Given the description of an element on the screen output the (x, y) to click on. 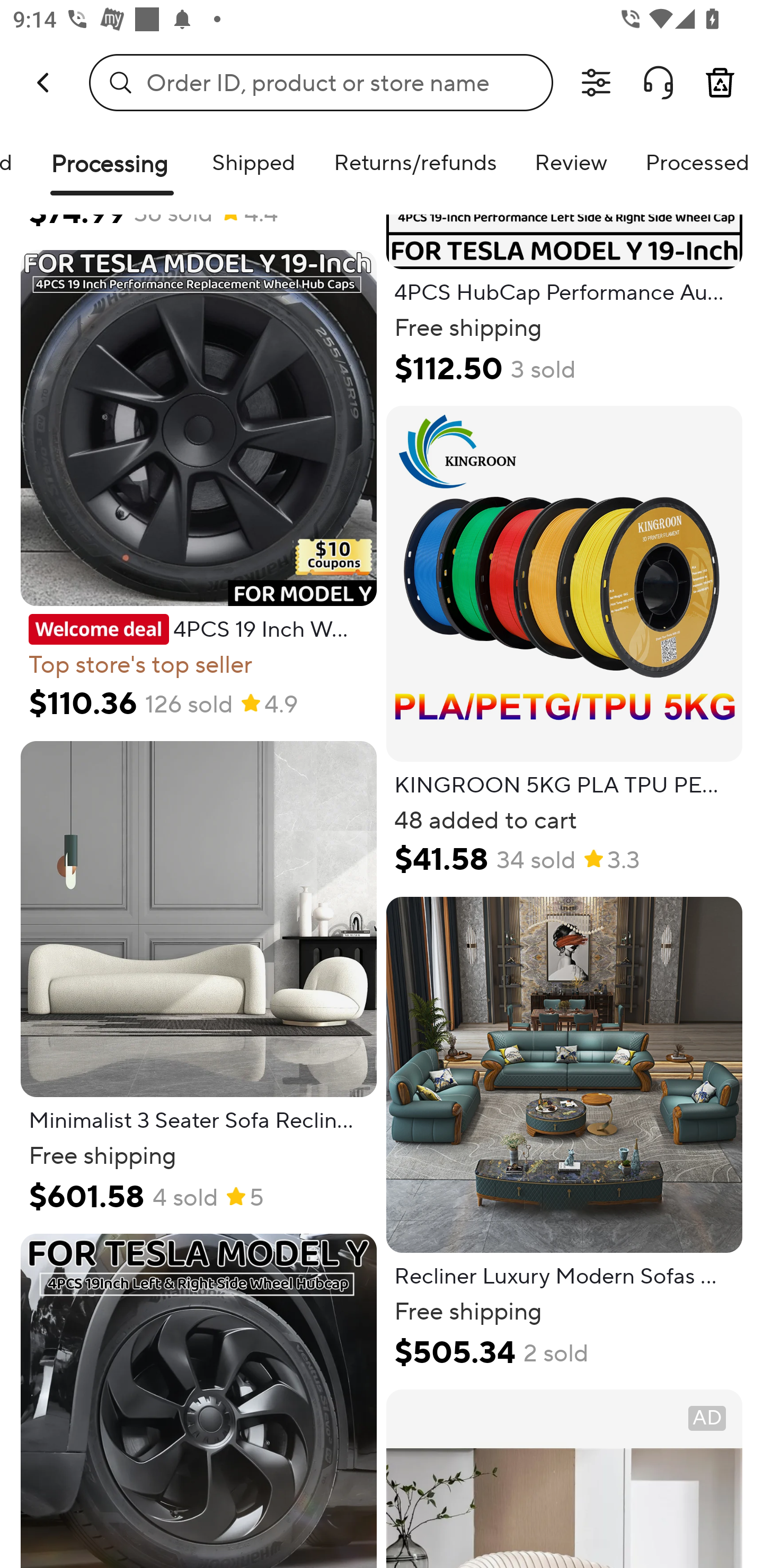
Navigate up (44, 82)
 Order ID, product or store name (321, 82)
 (595, 82)
 (658, 82)
Processing (112, 170)
Shipped (253, 162)
Returns/refunds (414, 162)
Review (570, 162)
Processed (694, 162)
